Given the description of an element on the screen output the (x, y) to click on. 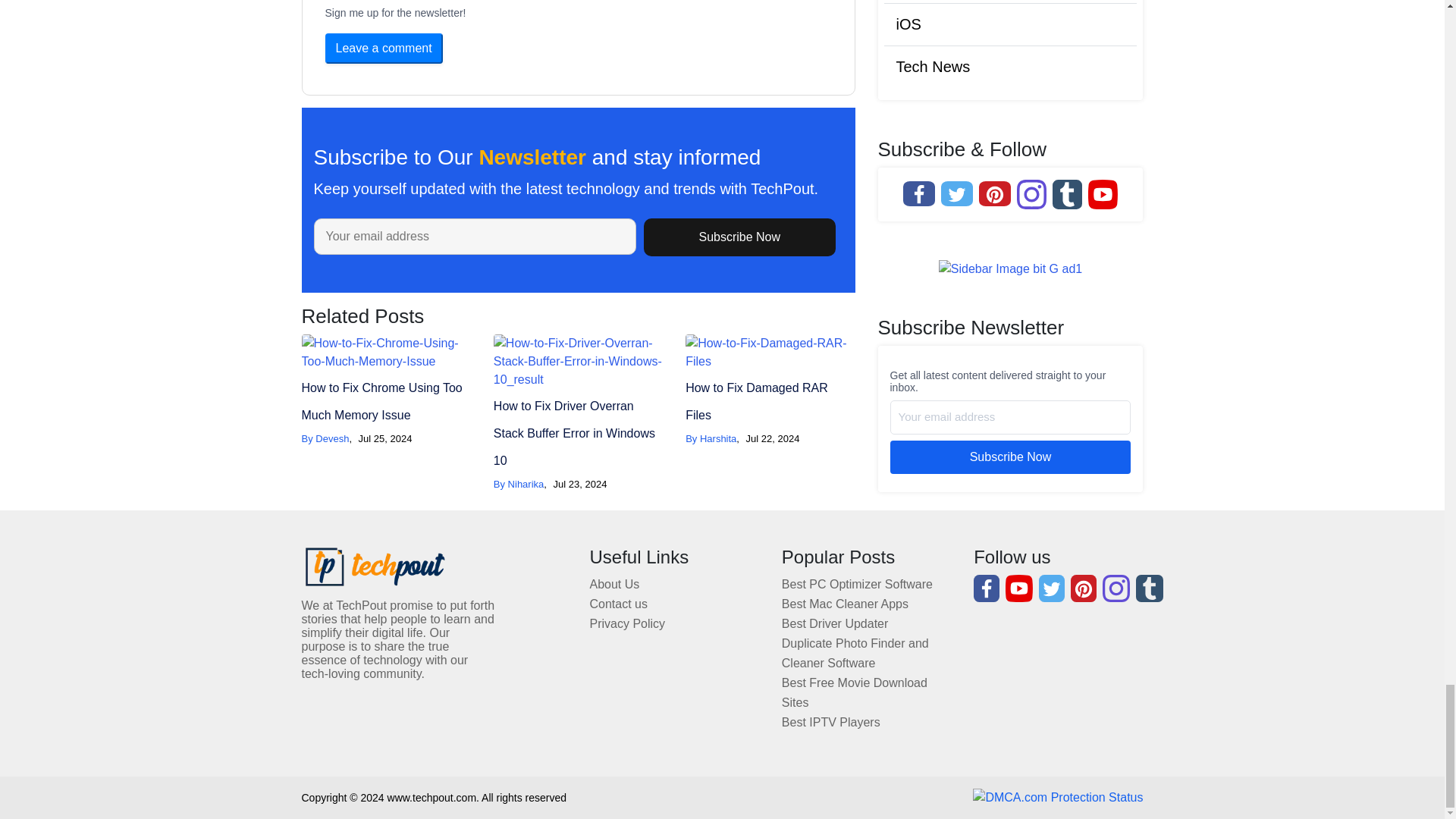
Subscribe Now (739, 237)
Leave a comment (383, 48)
